Given the description of an element on the screen output the (x, y) to click on. 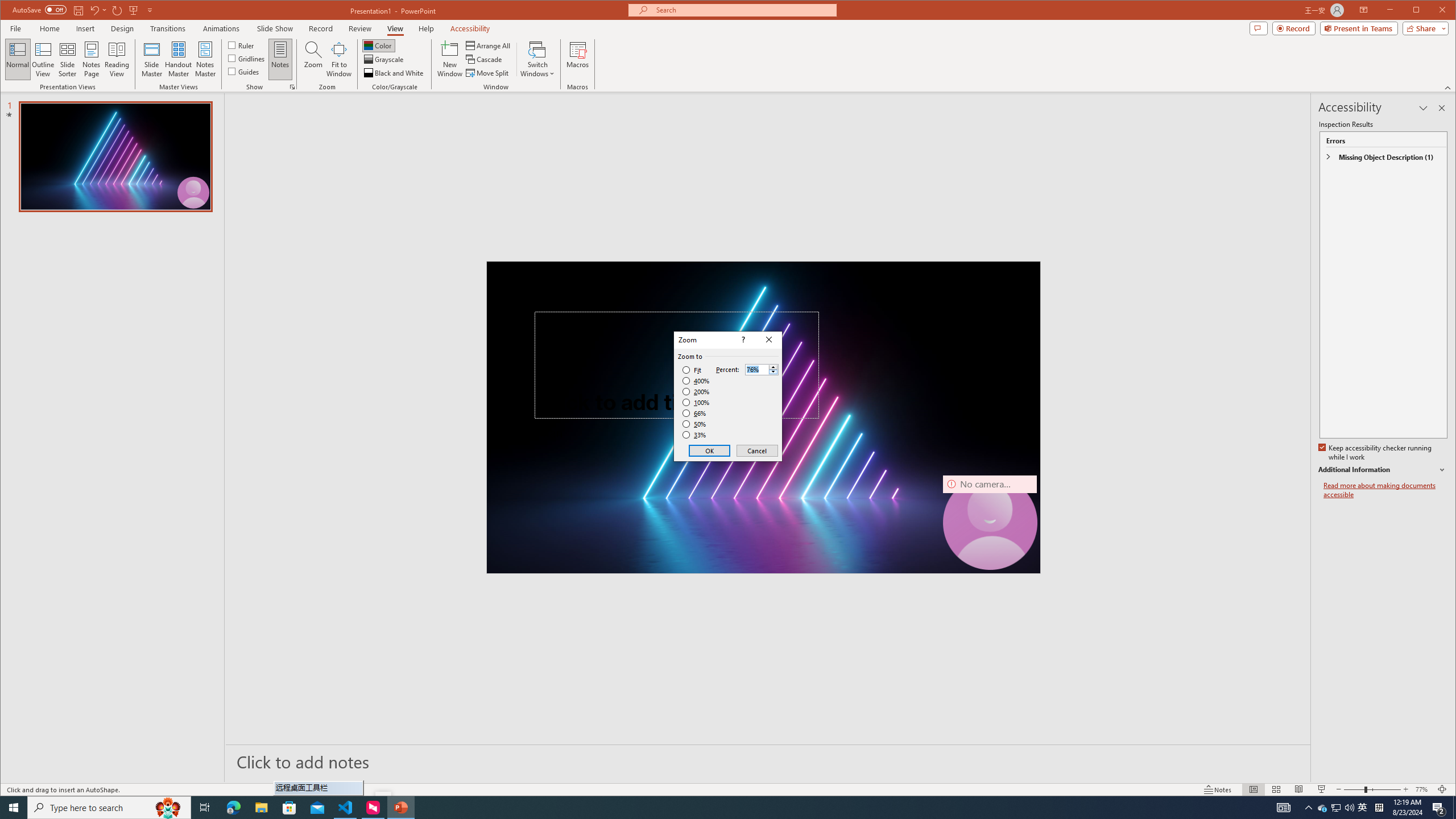
Zoom... (312, 59)
Handout Master (178, 59)
